Given the description of an element on the screen output the (x, y) to click on. 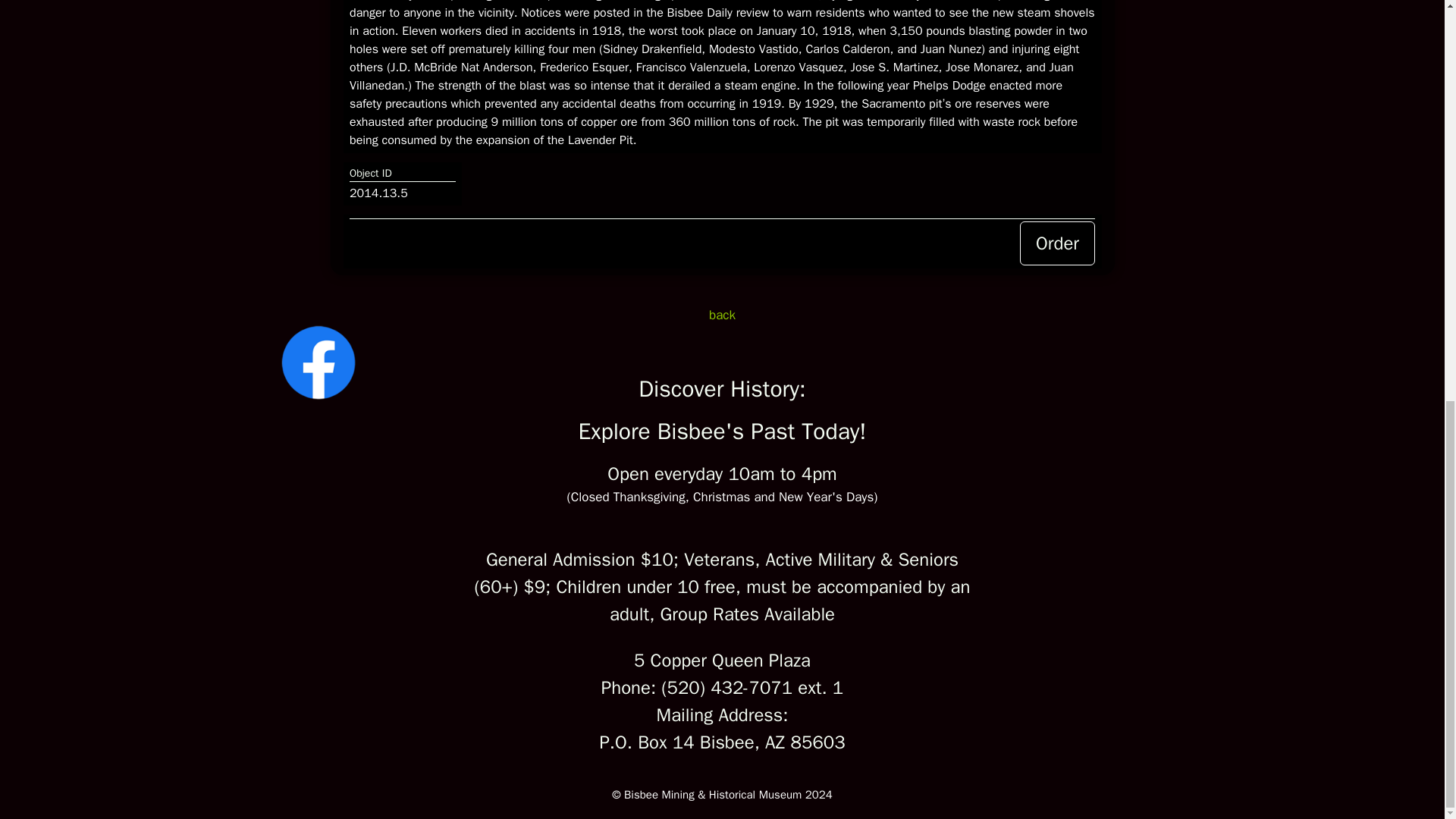
Scroll back to top (1406, 752)
Order (1057, 243)
Follow us on Facebook (318, 396)
back (722, 314)
